Given the description of an element on the screen output the (x, y) to click on. 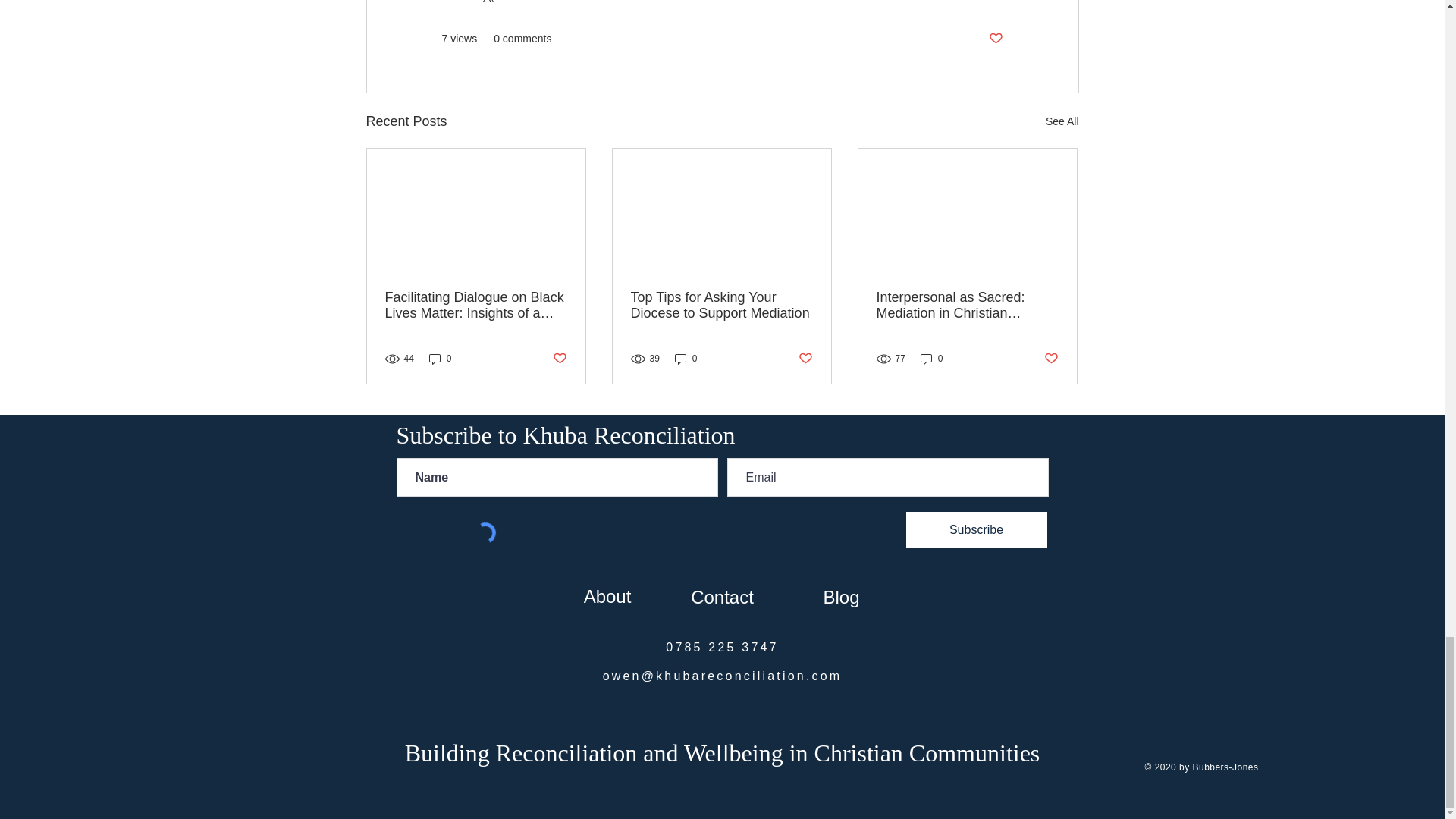
Blog (841, 596)
0 (685, 359)
Post not marked as liked (558, 358)
Post not marked as liked (1050, 358)
0 (931, 359)
About (607, 596)
Contact (722, 596)
0 (440, 359)
Top Tips for Asking Your Diocese to Support Mediation (721, 305)
